Given the description of an element on the screen output the (x, y) to click on. 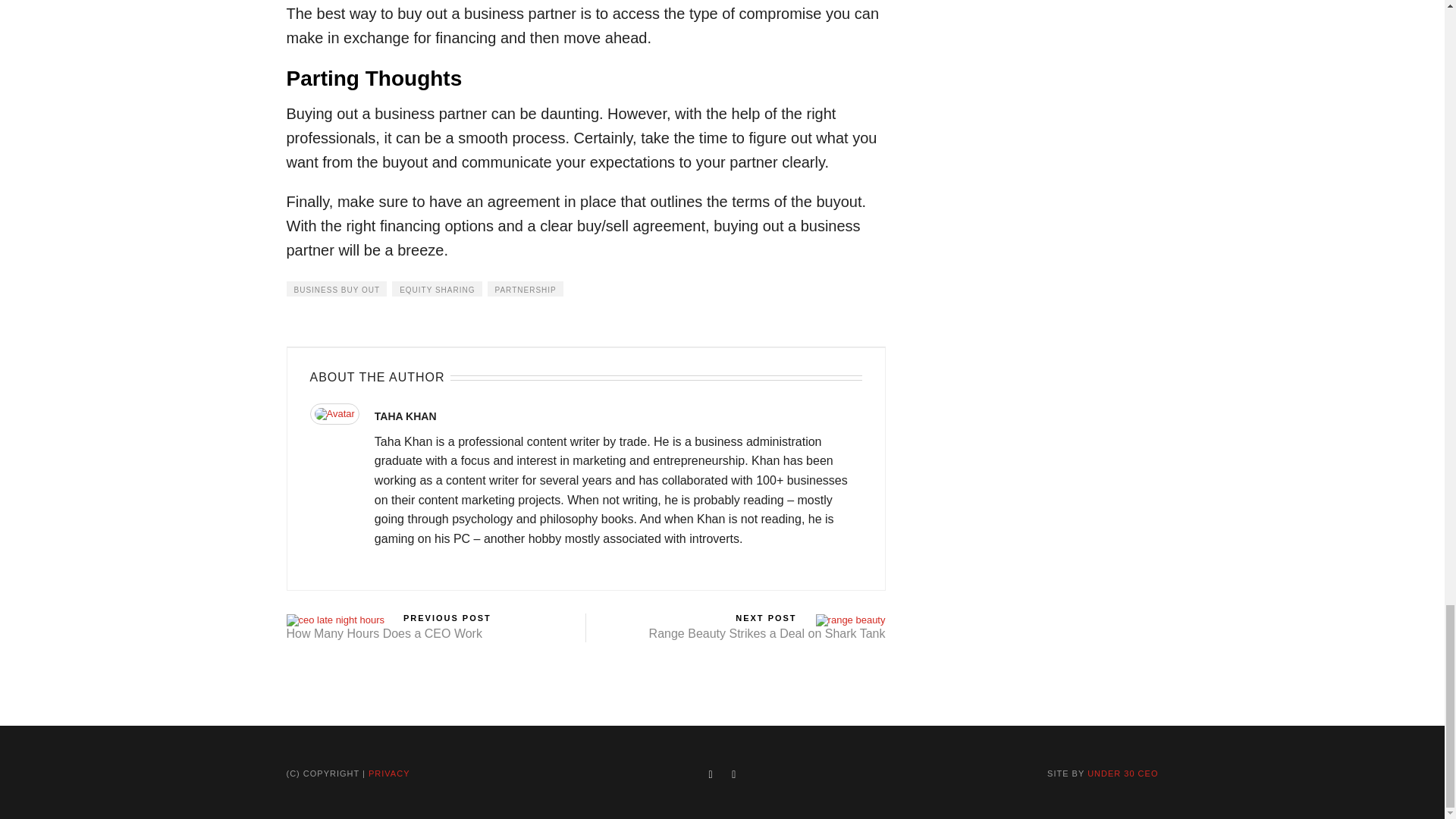
BUSINESS BUY OUT (336, 288)
Visit Author Page (333, 412)
PARTNERSHIP (525, 288)
Posts by Taha Khan (405, 416)
EQUITY SHARING (436, 288)
